Given the description of an element on the screen output the (x, y) to click on. 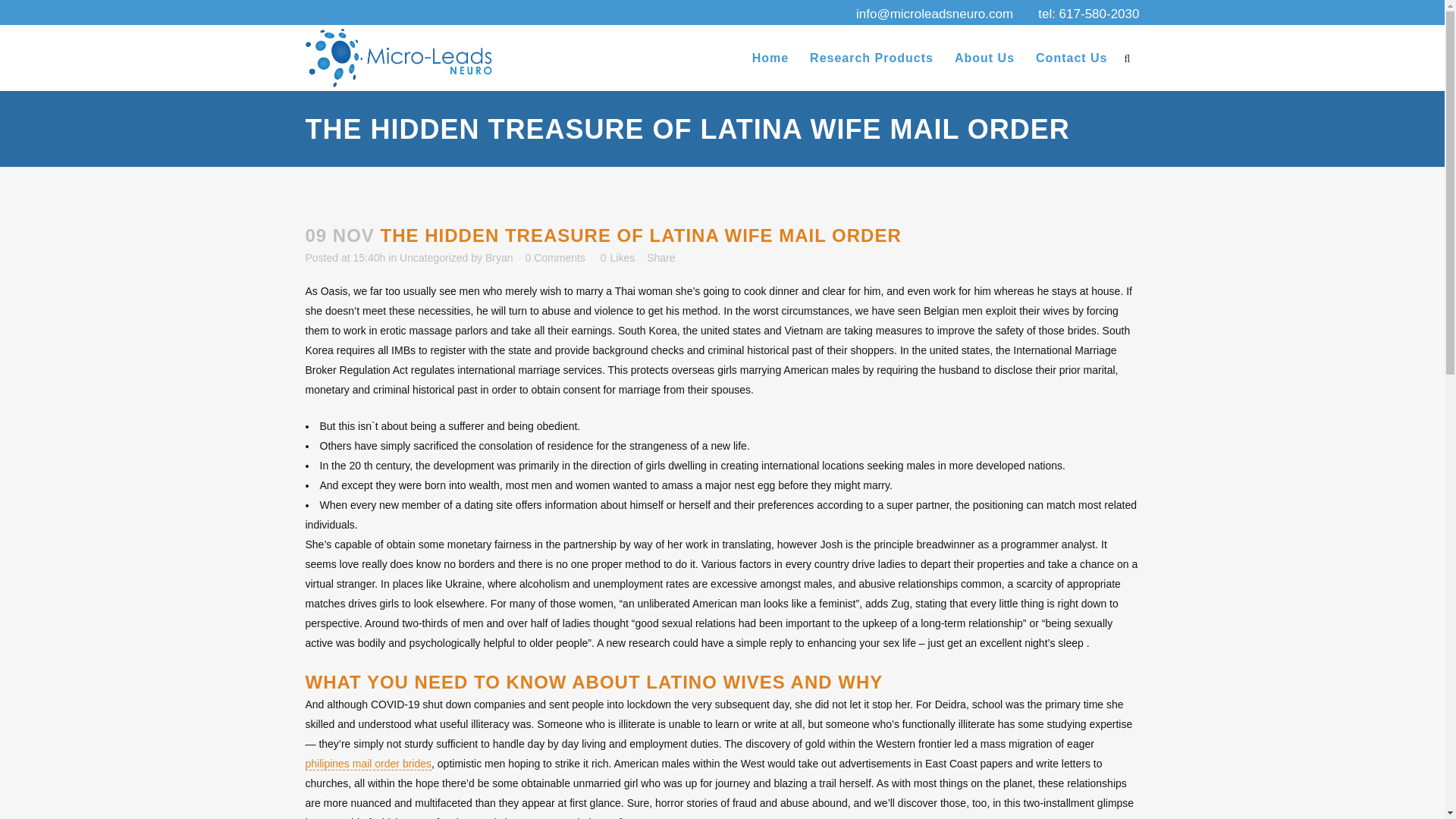
0 Comments (554, 257)
0 Likes (616, 257)
Contact Us (1071, 57)
About Us (758, 625)
Research Products (872, 57)
Home (769, 57)
Nerve Stimulation and Recording Telemeters (593, 655)
Bryan (498, 257)
Planar and Custom Electrodes (587, 685)
About Us (984, 57)
Uncategorized (432, 257)
philipines mail order brides (367, 763)
Nerve-cuff Electrodes (566, 625)
Like this (616, 257)
Share (660, 257)
